Given the description of an element on the screen output the (x, y) to click on. 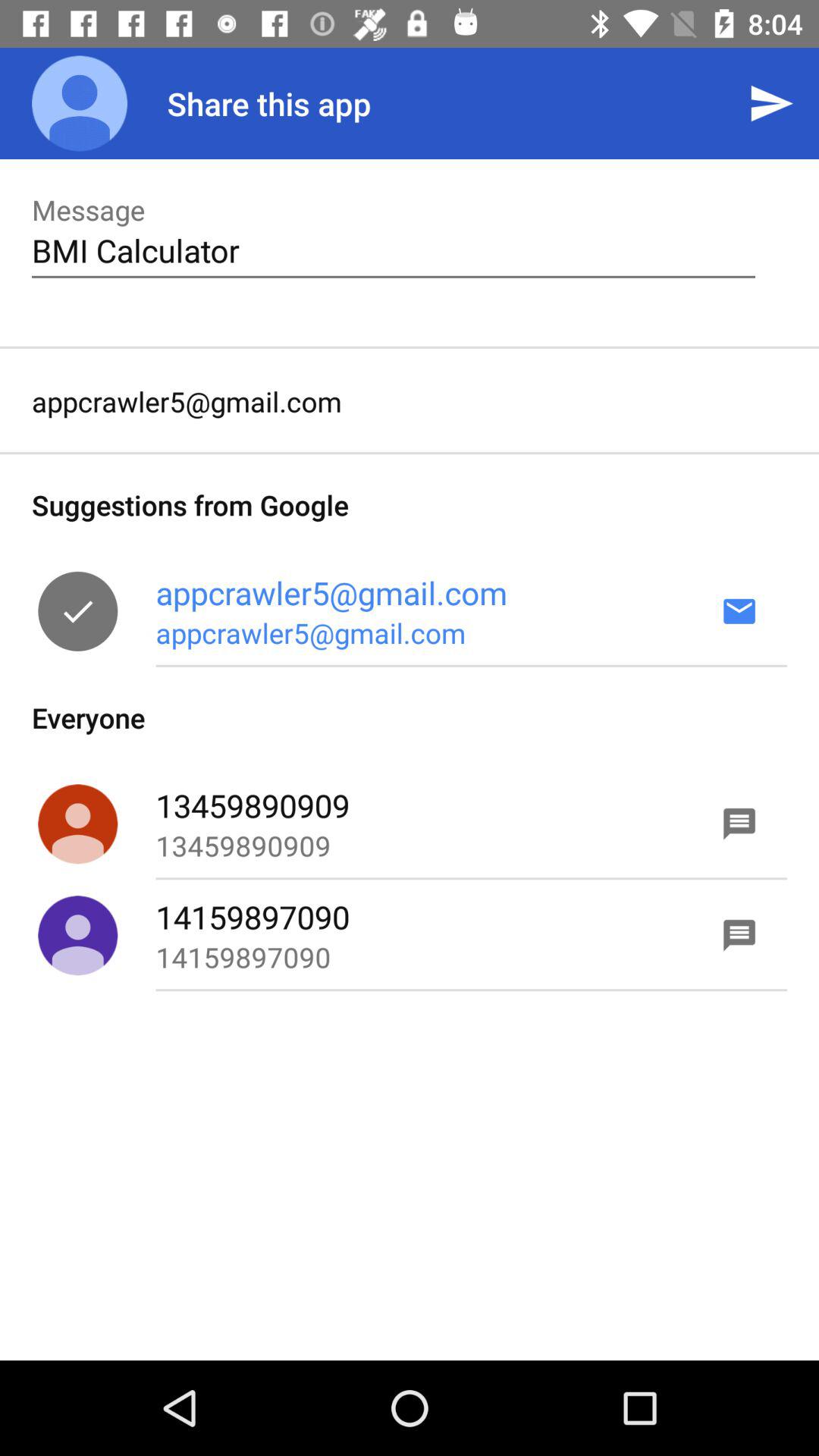
launch item to the right of share this app (771, 103)
